Given the description of an element on the screen output the (x, y) to click on. 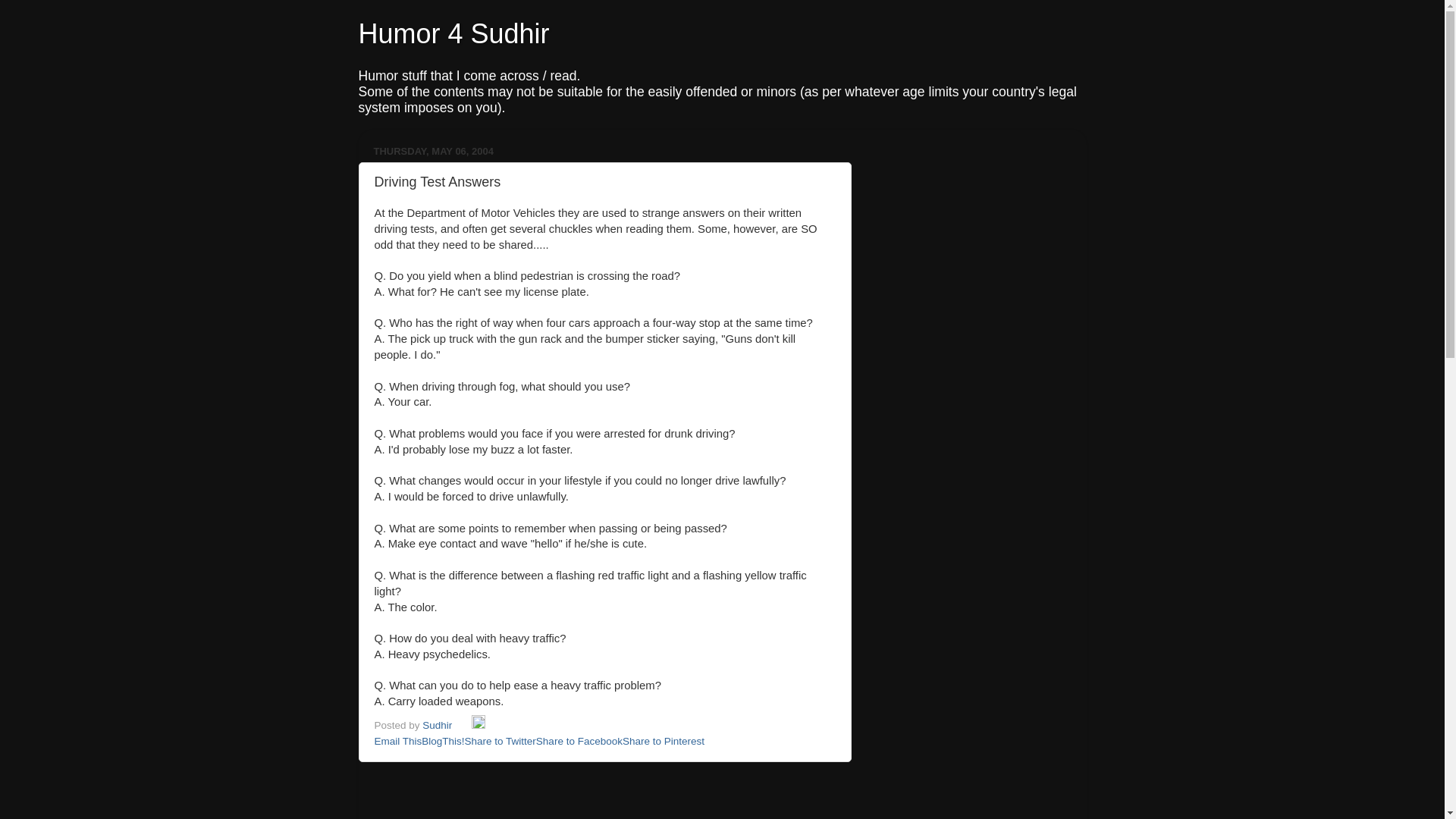
author profile (438, 725)
Share to Facebook (579, 740)
Share to Twitter (499, 740)
Share to Facebook (579, 740)
Edit Post (477, 725)
Share to Twitter (499, 740)
Sudhir (438, 725)
Email This (398, 740)
Share to Pinterest (663, 740)
BlogThis! (443, 740)
BlogThis! (443, 740)
Share to Pinterest (663, 740)
Email Post (462, 725)
Email This (398, 740)
Humor 4 Sudhir (453, 33)
